Given the description of an element on the screen output the (x, y) to click on. 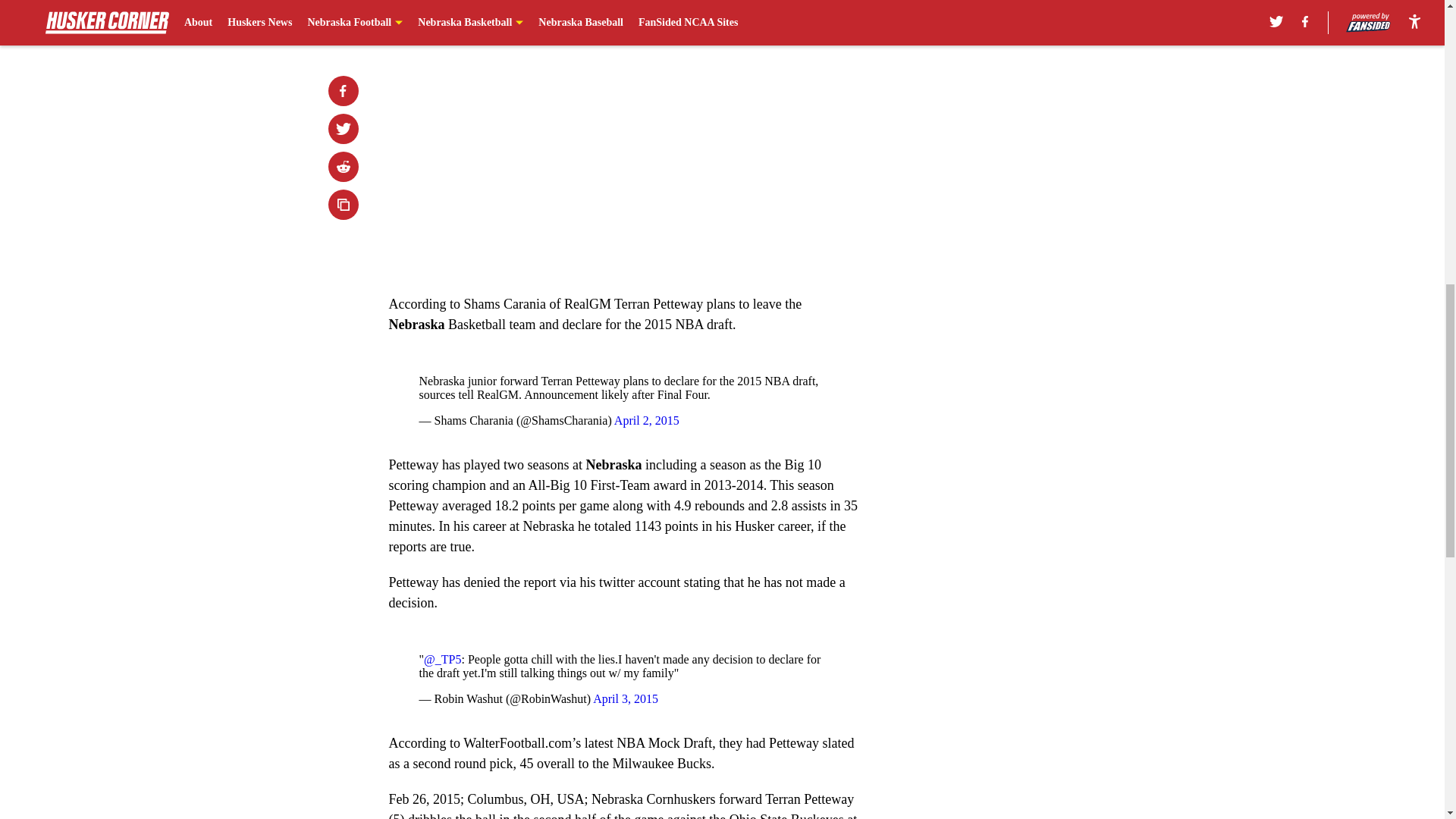
April 3, 2015 (625, 698)
April 2, 2015 (646, 420)
